Given the description of an element on the screen output the (x, y) to click on. 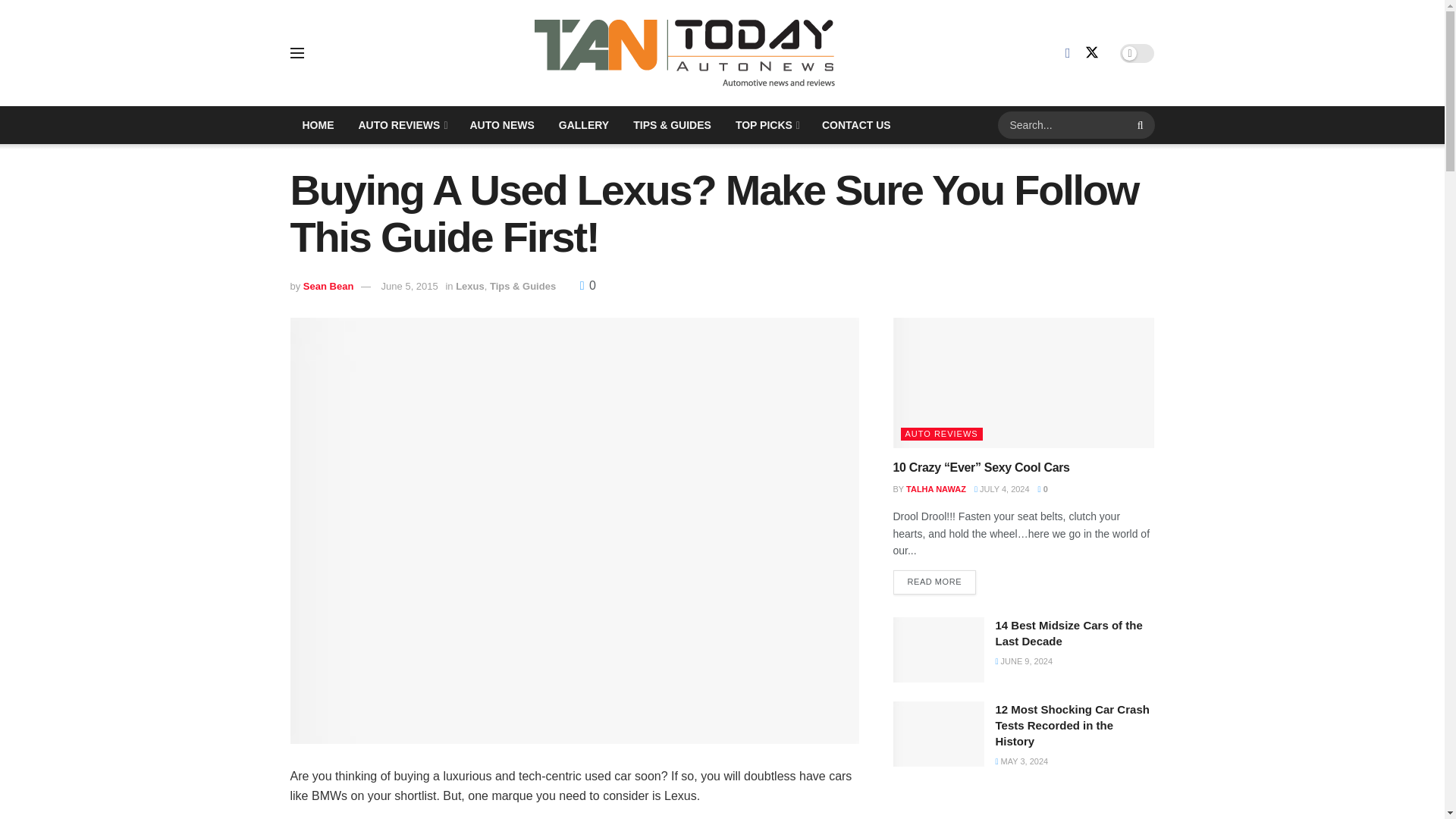
AUTO REVIEWS (401, 125)
HOME (317, 125)
